Given the description of an element on the screen output the (x, y) to click on. 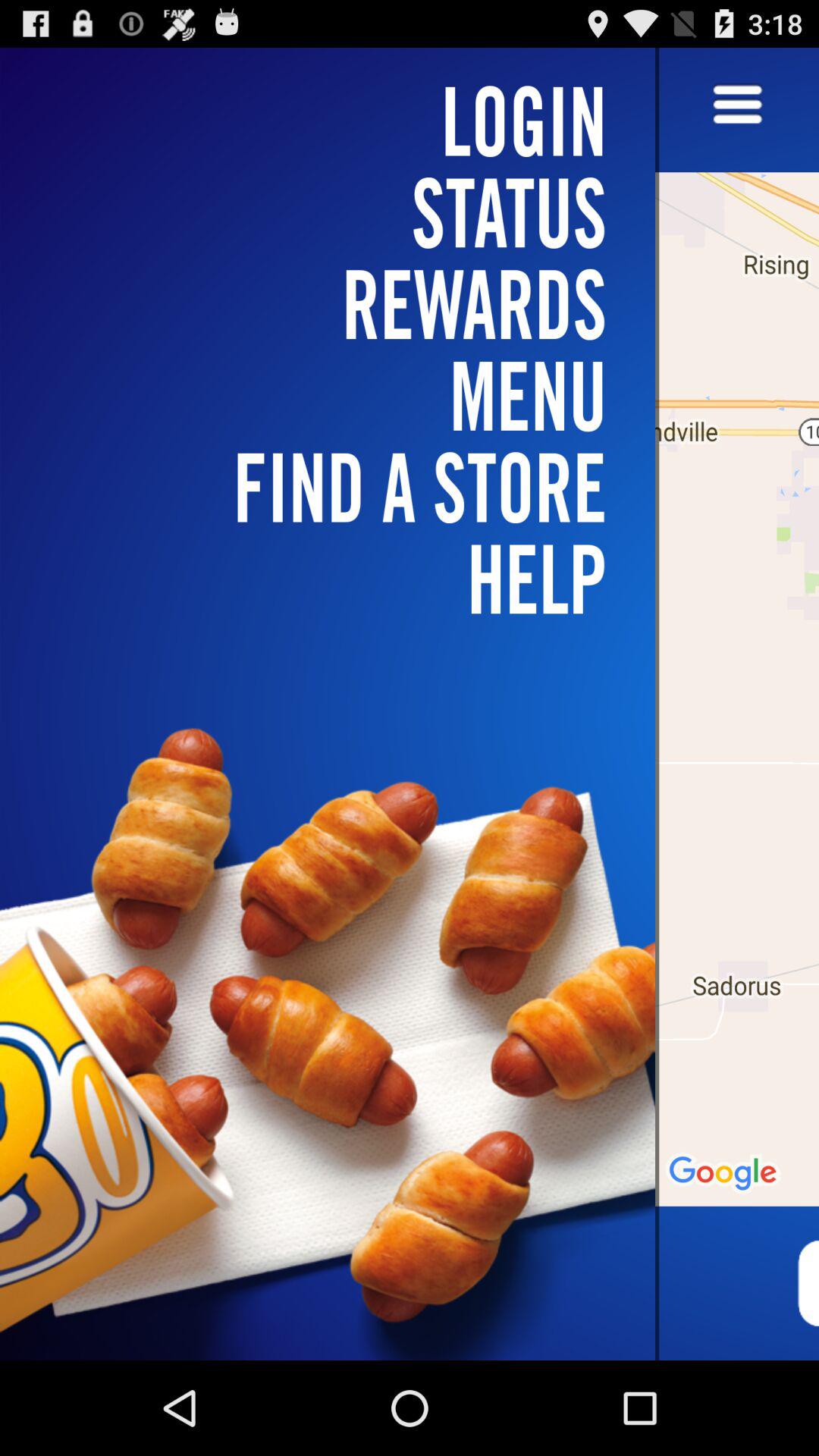
open menu (737, 105)
